Given the description of an element on the screen output the (x, y) to click on. 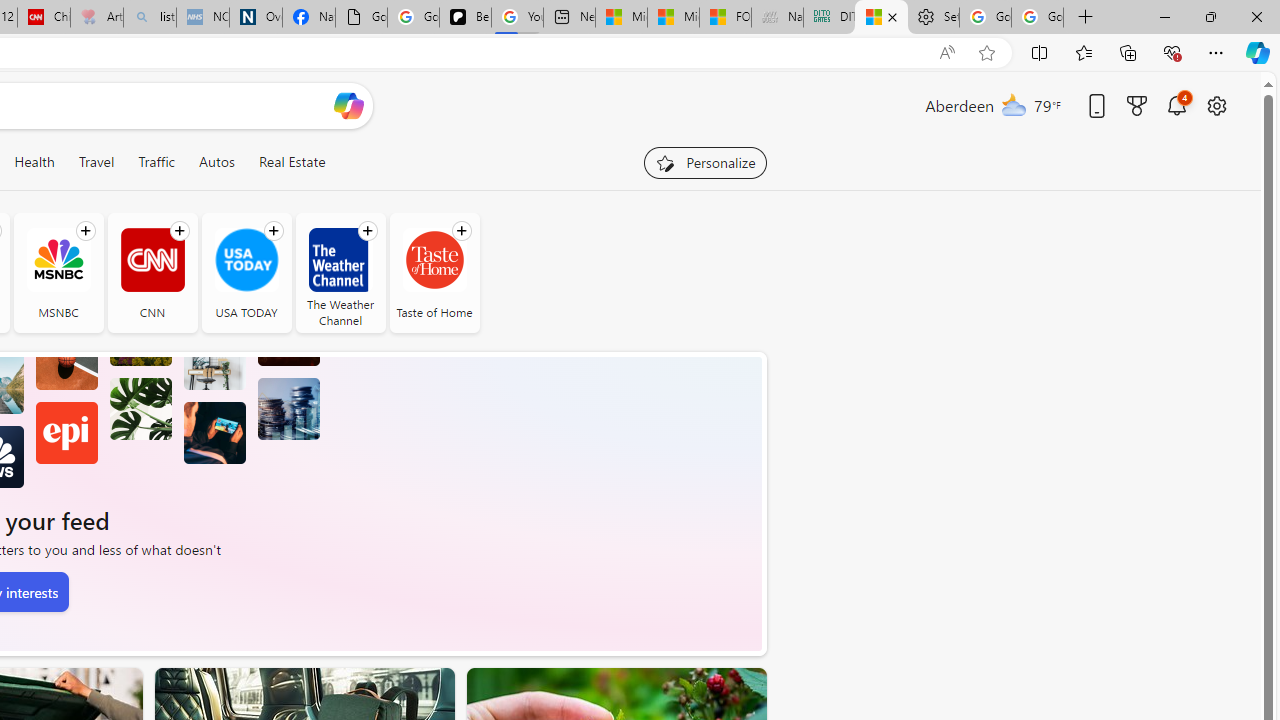
Travel (96, 162)
Autos (216, 161)
Personalize your feed" (704, 162)
Real Estate (291, 161)
Health (34, 161)
Autos (216, 162)
The Weather Channel (340, 260)
Be Smart | creating Science videos | Patreon (465, 17)
Follow channel (461, 231)
